Given the description of an element on the screen output the (x, y) to click on. 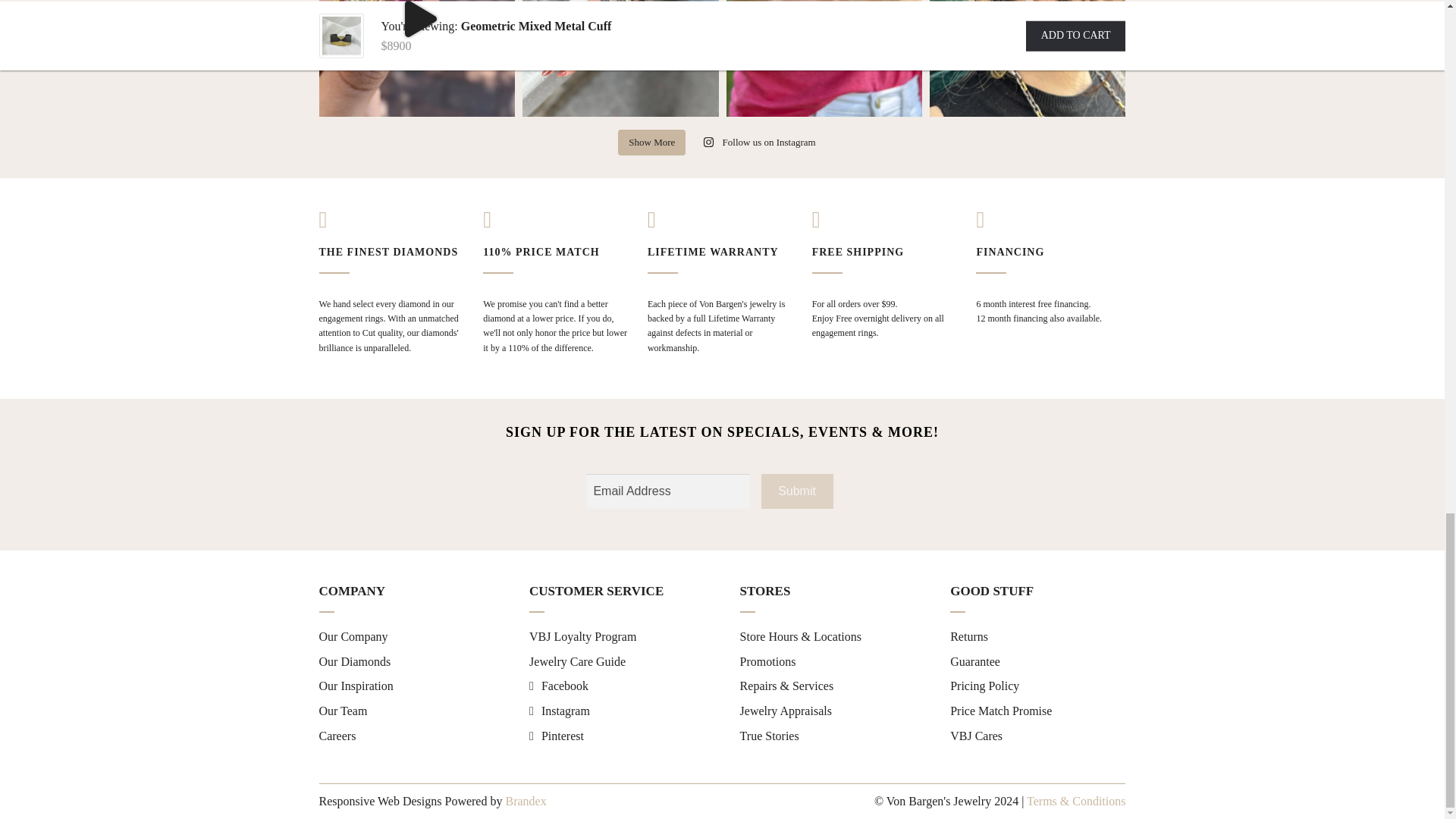
Submit (796, 491)
